Given the description of an element on the screen output the (x, y) to click on. 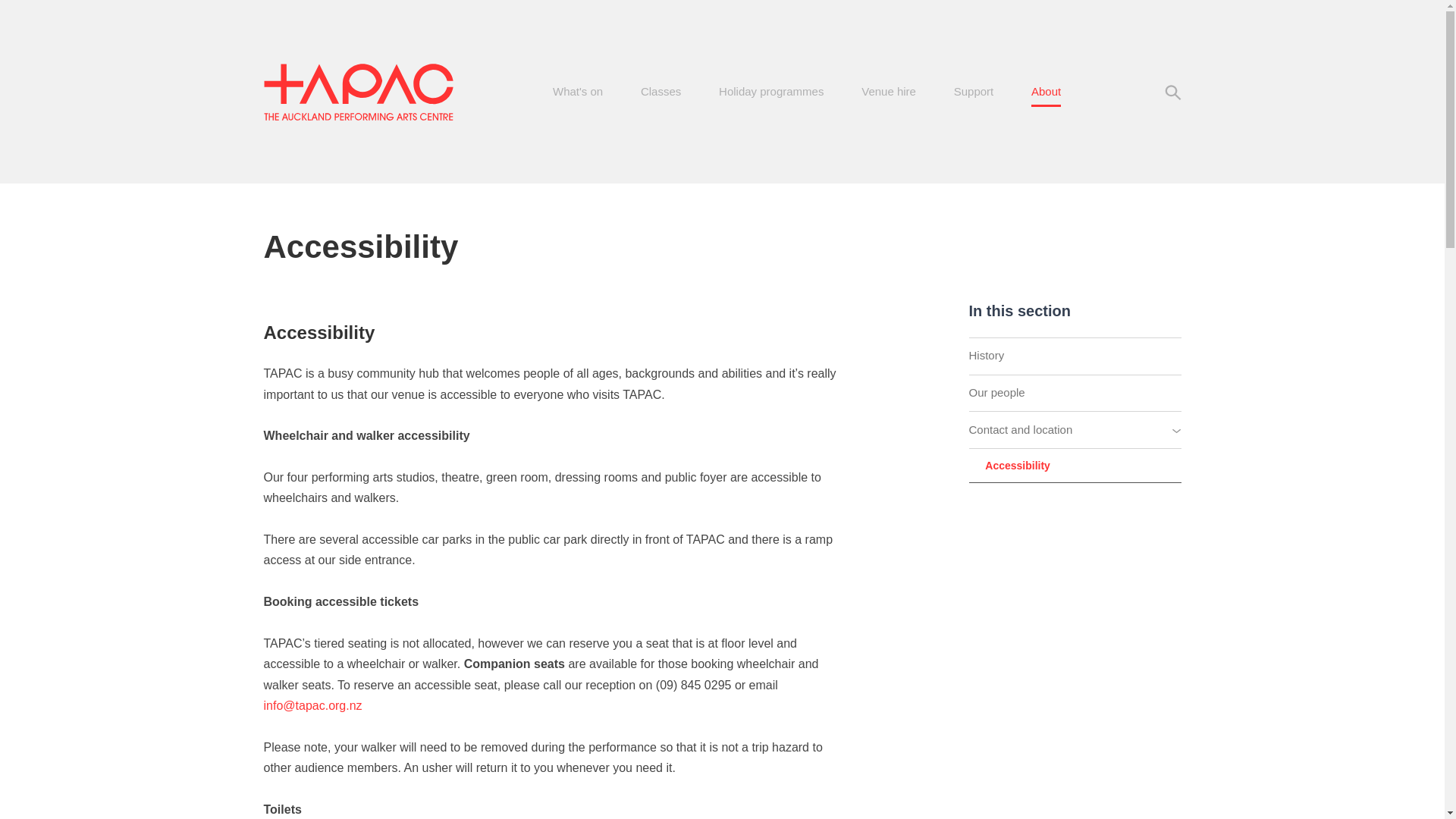
Home (357, 91)
Venue hire (888, 92)
Classes (660, 92)
Skip to main content (726, 4)
History (1074, 356)
Holiday programmes (771, 92)
Open search (1170, 93)
Accessibility (1074, 466)
Contact and location (1074, 429)
Support (973, 92)
